Given the description of an element on the screen output the (x, y) to click on. 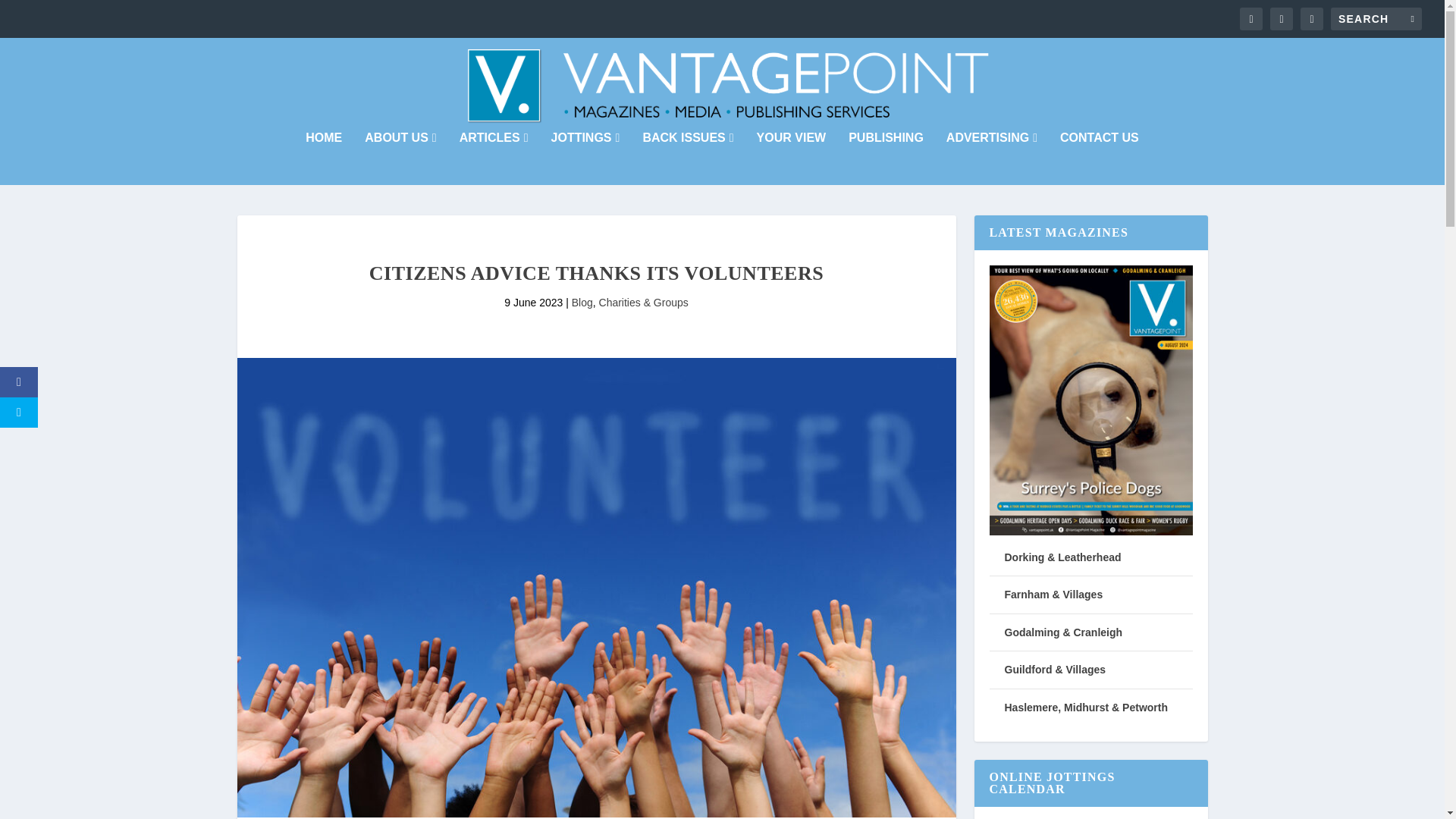
YOUR VIEW (792, 158)
Search for: (1376, 18)
JOTTINGS (585, 158)
ABOUT US (400, 158)
ADVERTISING (991, 158)
CONTACT US (1098, 158)
ARTICLES (494, 158)
PUBLISHING (885, 158)
BACK ISSUES (687, 158)
